Given the description of an element on the screen output the (x, y) to click on. 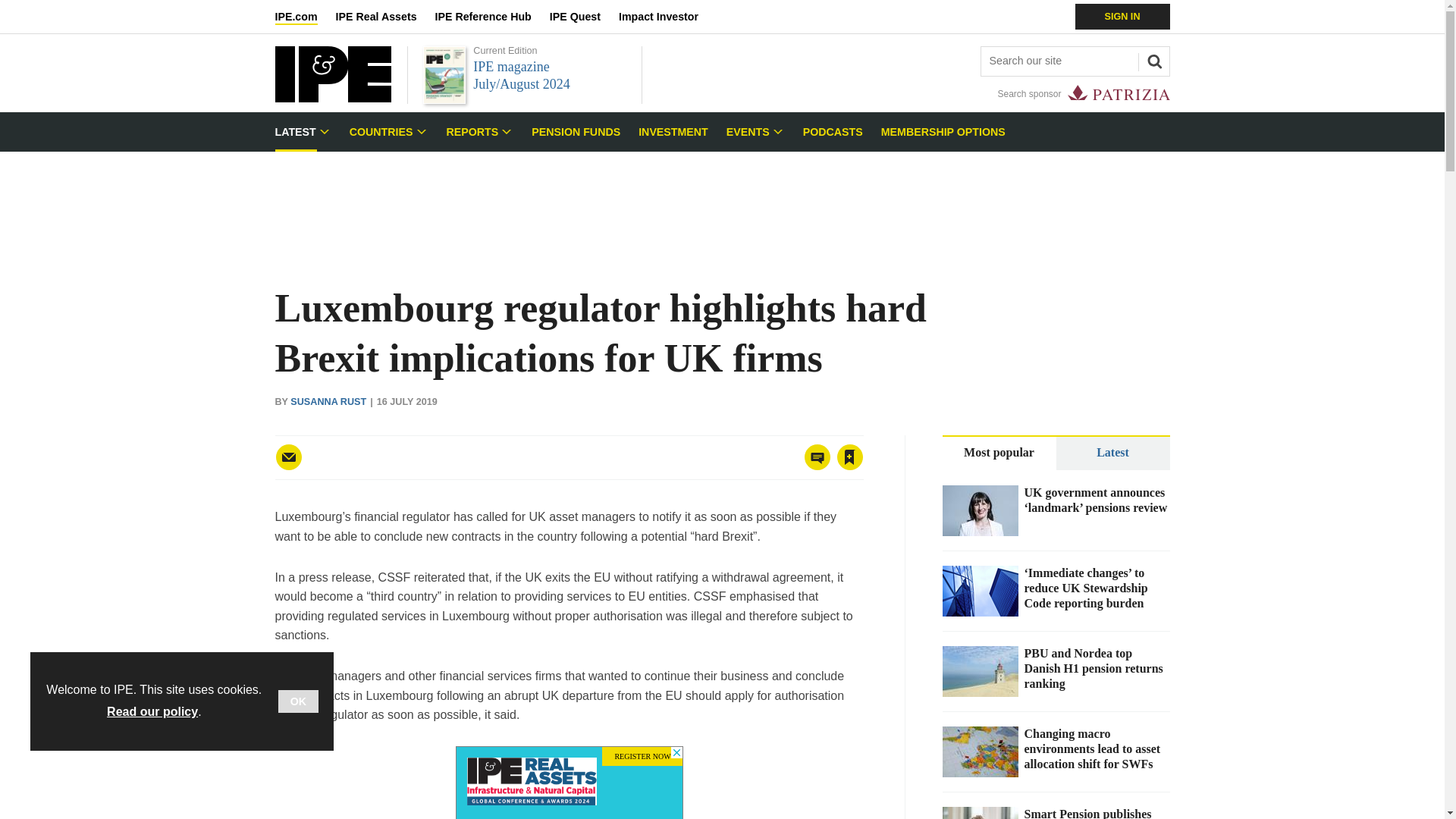
3rd party ad content (721, 203)
3rd party ad content (568, 782)
IPE Quest (583, 16)
Email this article (288, 456)
IPE Quest (583, 16)
IPE Real Assets (384, 16)
Impact Investor (667, 16)
IPE Reference Hub (491, 16)
IPE (332, 97)
IPE Reference Hub (491, 16)
SIGN IN (1122, 16)
IPE Real Assets (384, 16)
OK (298, 701)
Impact Investor (667, 16)
Read our policy (152, 711)
